Given the description of an element on the screen output the (x, y) to click on. 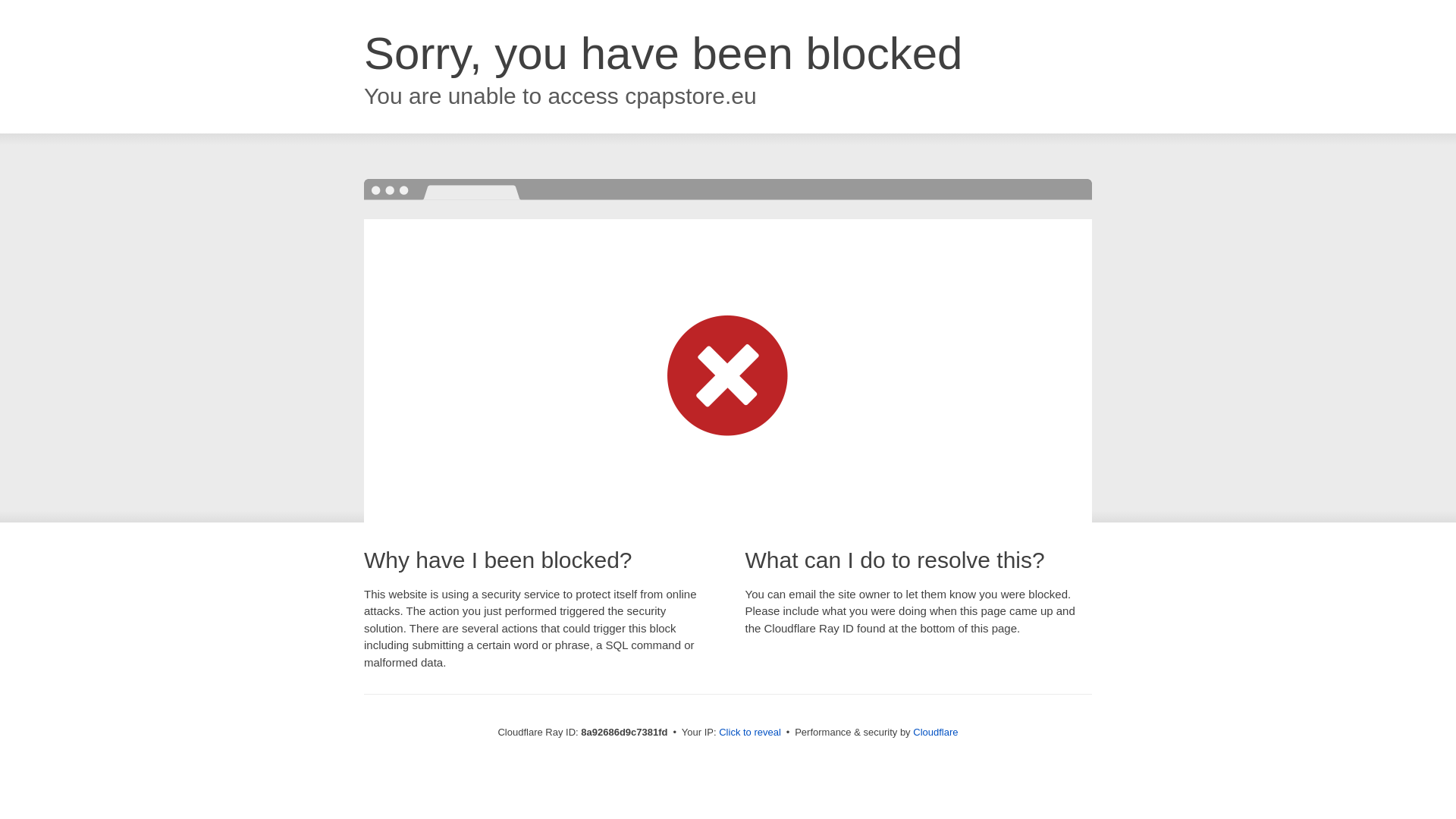
Cloudflare (935, 731)
Click to reveal (749, 732)
